Given the description of an element on the screen output the (x, y) to click on. 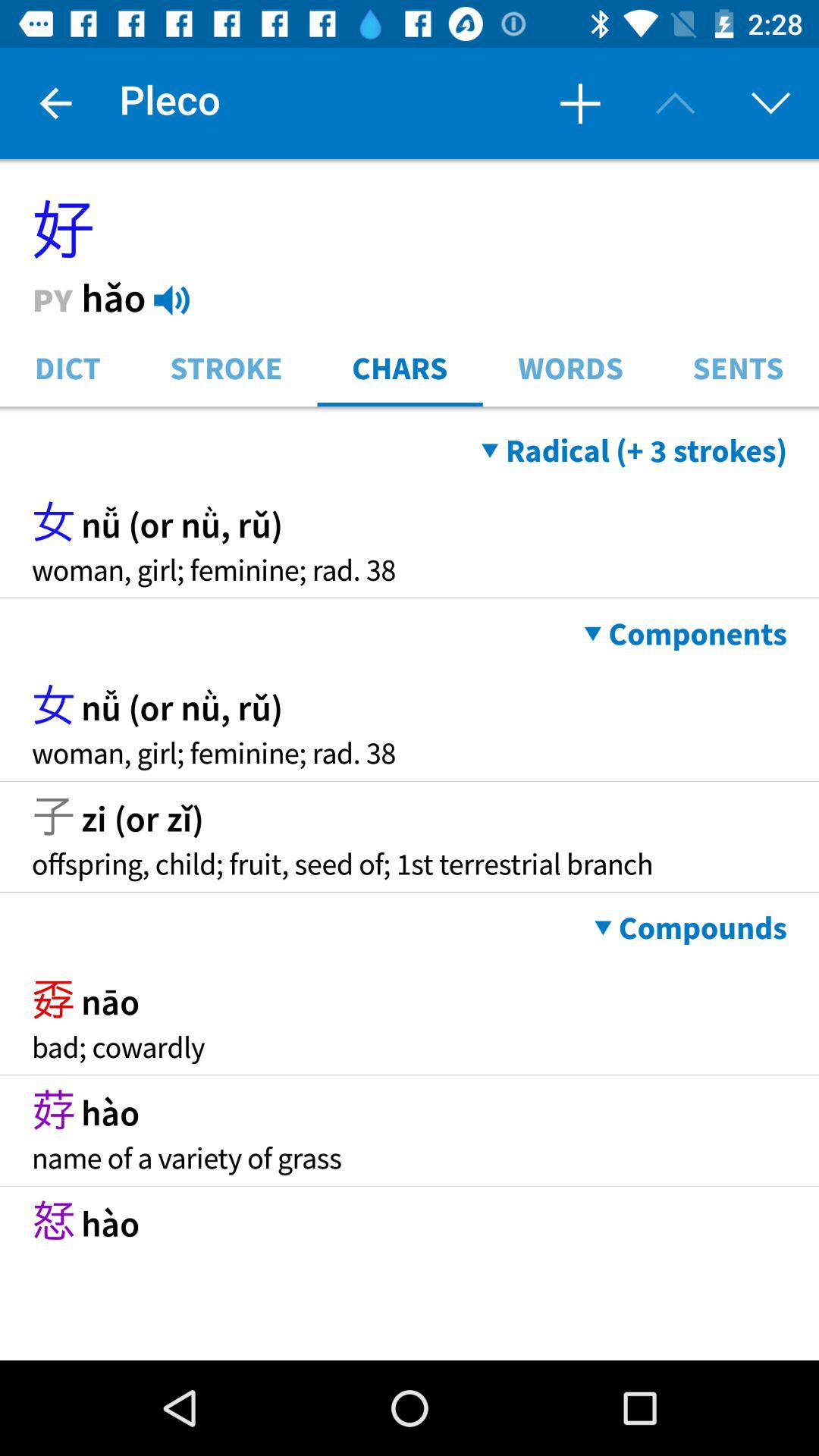
turn on the item next to the sents (570, 366)
